Given the description of an element on the screen output the (x, y) to click on. 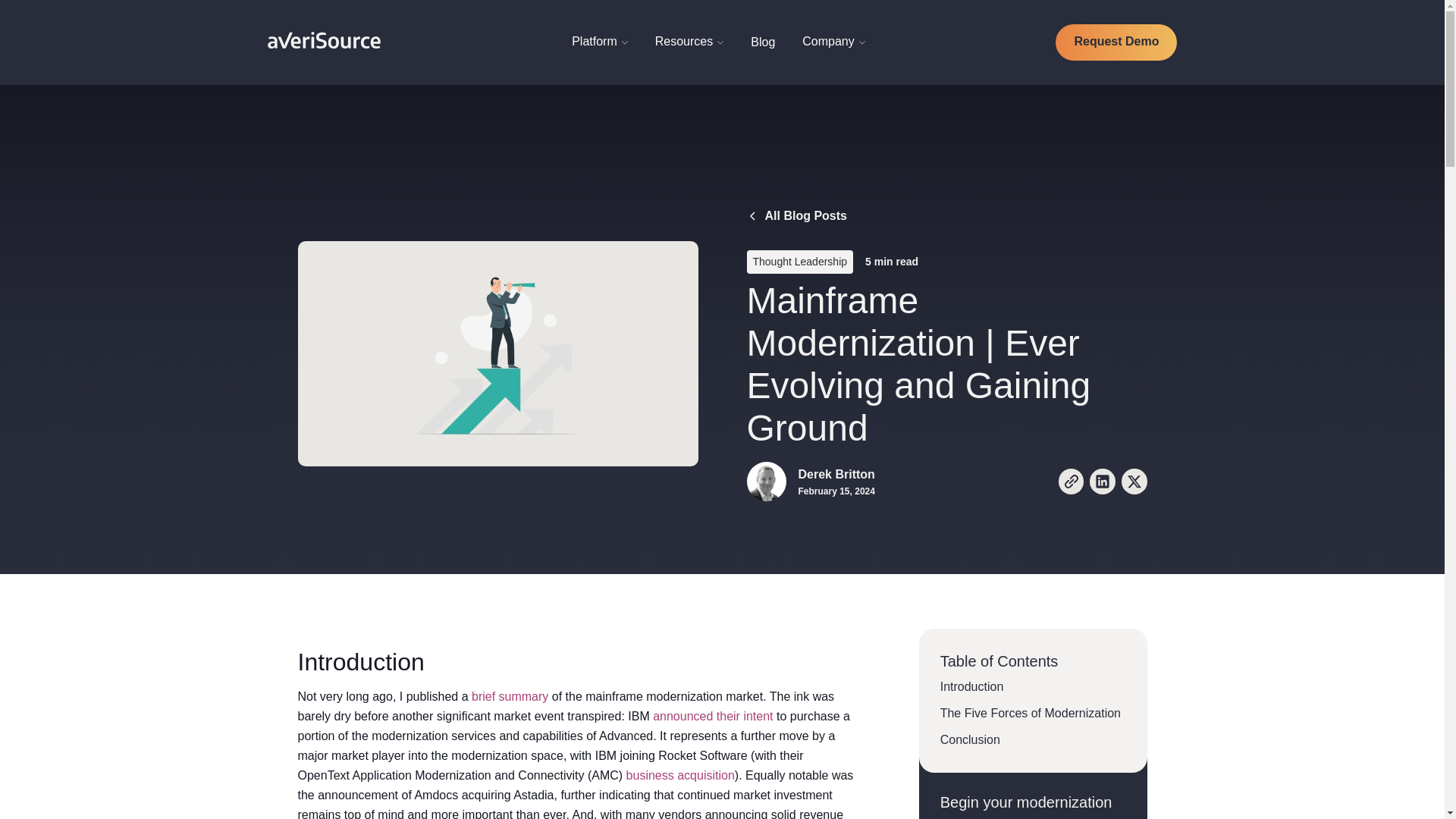
The Five Forces of Modernization (1032, 713)
Request Demo (1115, 42)
Introduction (1032, 686)
Blog (762, 42)
business acquisition (680, 775)
All Blog Posts (795, 216)
announced their intent (712, 716)
brief summary (509, 696)
